Given the description of an element on the screen output the (x, y) to click on. 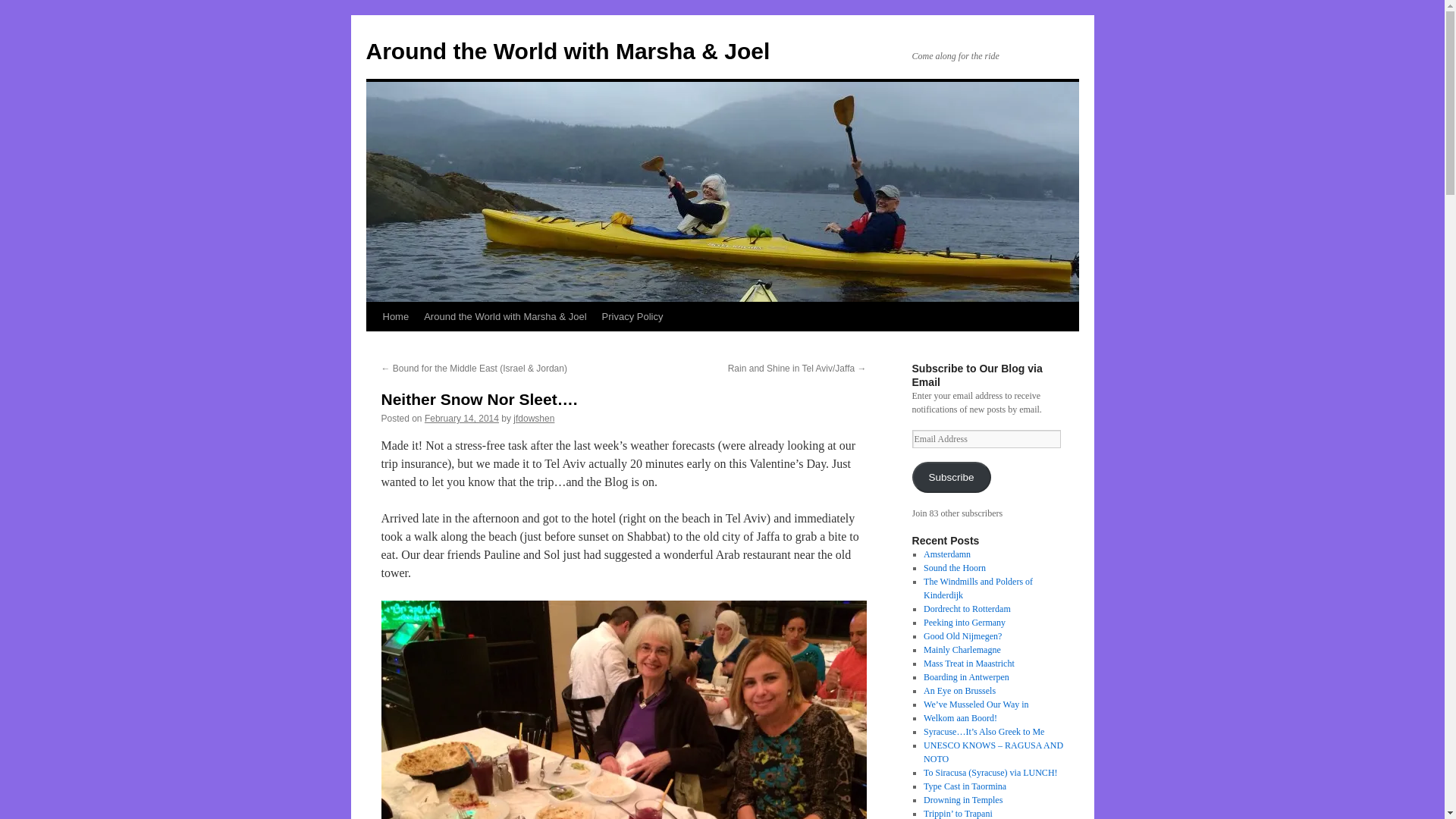
Privacy Policy (632, 316)
February 14, 2014 (462, 418)
2:18 pm (462, 418)
Home (395, 316)
View all posts by jfdowshen (533, 418)
jfdowshen (533, 418)
